Given the description of an element on the screen output the (x, y) to click on. 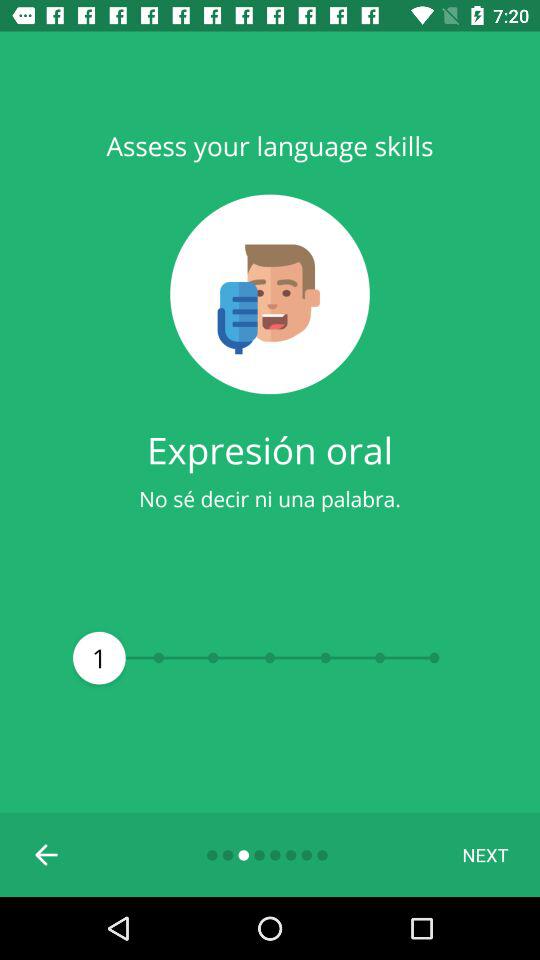
jump to next icon (485, 854)
